Given the description of an element on the screen output the (x, y) to click on. 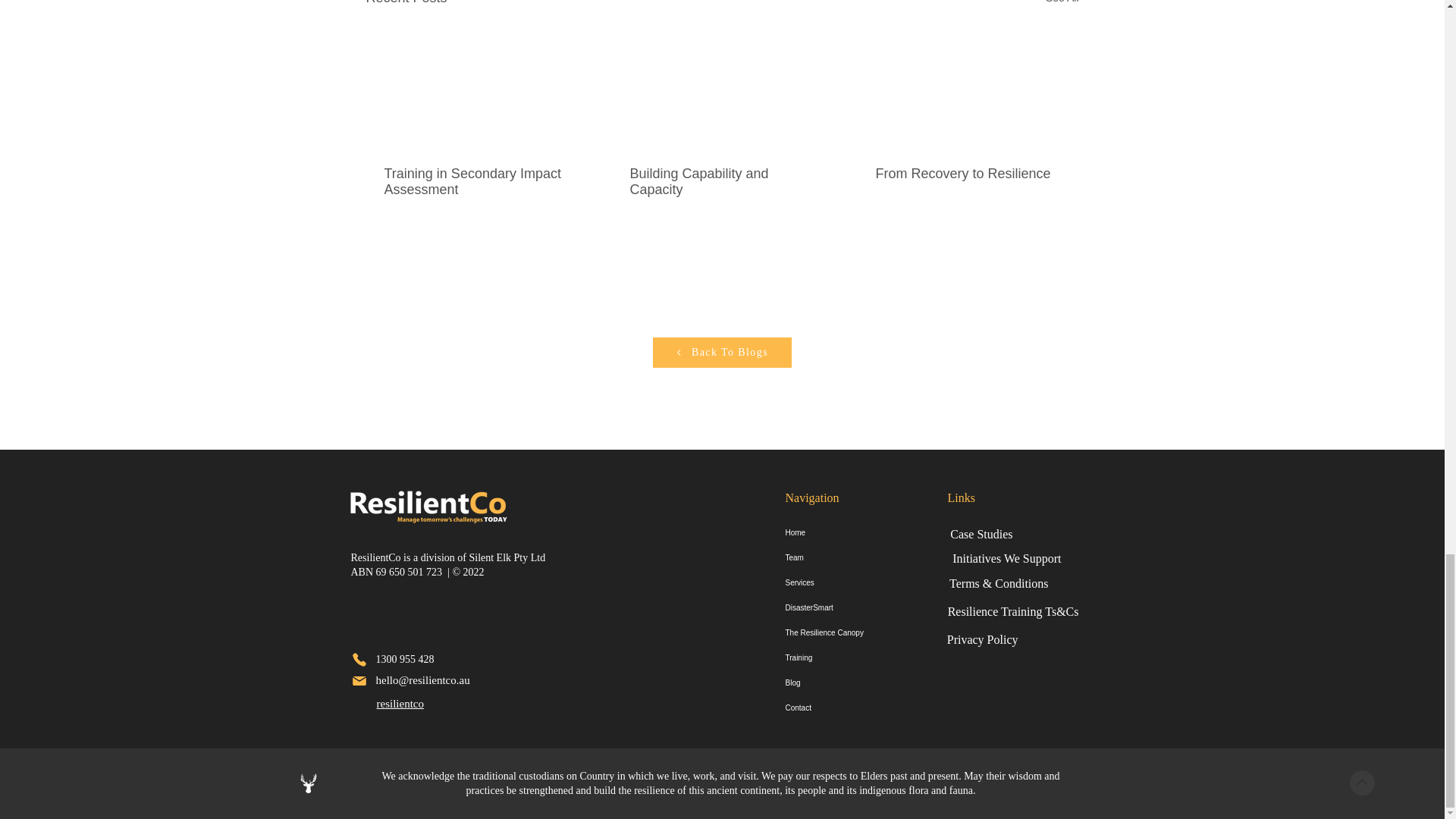
Team (843, 557)
Original on Transparent.png (426, 503)
Home (843, 532)
Back To Blogs (721, 352)
From Recovery to Resilience (966, 173)
1300 955 428 (403, 659)
resilientco (399, 703)
Training in Secondary Impact Assessment (475, 182)
Building Capability and Capacity (720, 182)
See All (1061, 4)
